Given the description of an element on the screen output the (x, y) to click on. 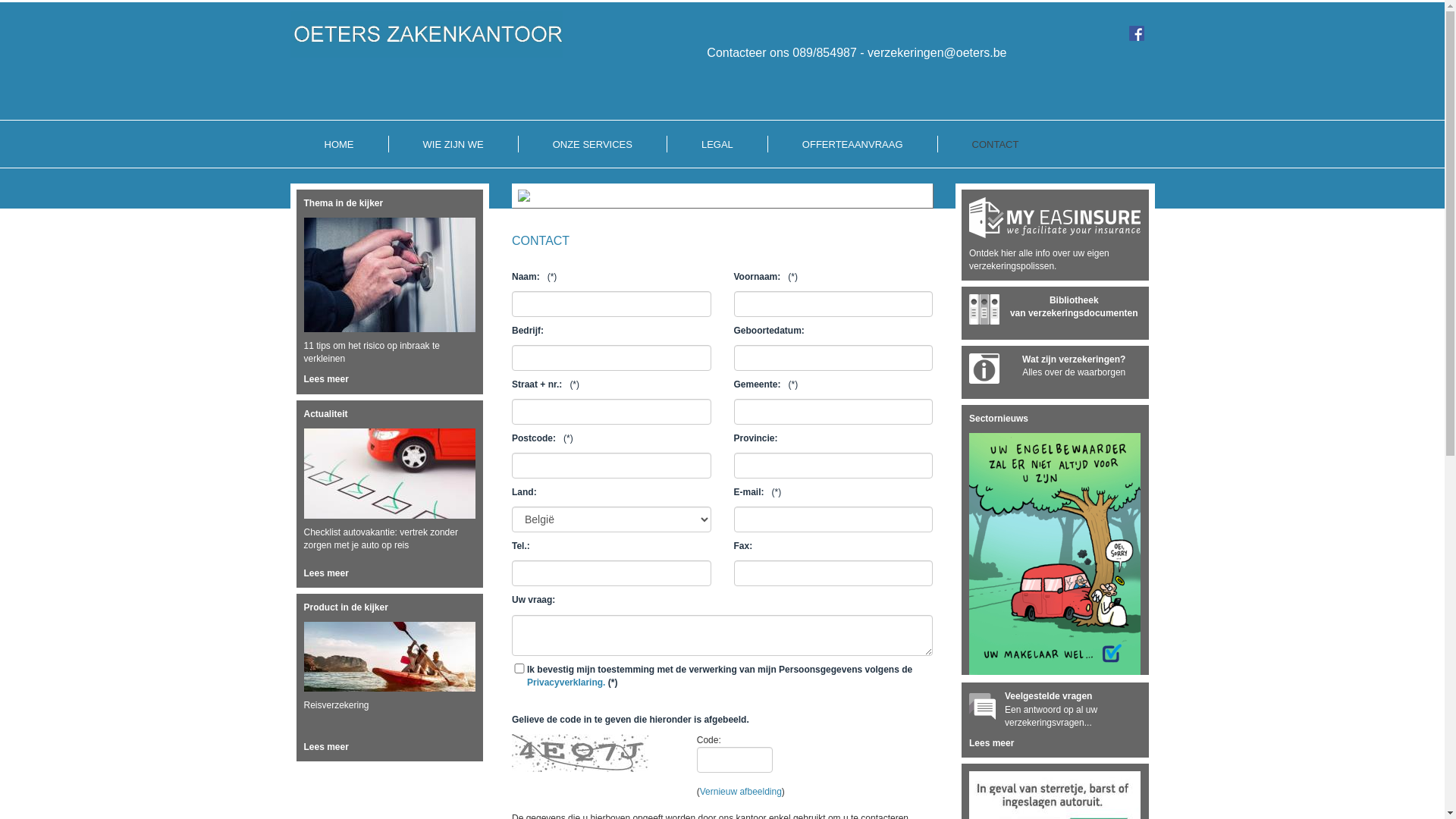
Ontdek hier alle info over uw eigen verzekeringspolissen. Element type: text (1055, 238)
verzekeringen@oeters.be Element type: text (936, 52)
LEGAL Element type: text (717, 144)
Wat zijn verzekeringen?
Alles over de waarborgen Element type: text (1055, 375)
Vernieuw afbeelding Element type: text (740, 791)
WIE ZIJN WE Element type: text (452, 144)
CONTACT Element type: text (995, 144)
Lees meer Element type: text (389, 750)
Product in de kijker
Reisverzekering Element type: text (389, 670)
HOME Element type: text (338, 144)
Lees meer Element type: text (389, 577)
Lees meer Element type: text (389, 383)
Privacyverklaring. Element type: text (566, 682)
OFFERTEAANVRAAG Element type: text (852, 144)
ONZE SERVICES Element type: text (592, 144)
Lees meer Element type: text (1055, 747)
Sectornieuws Element type: text (1055, 543)
Bibliotheek
van verzekeringsdocumenten Element type: text (1055, 316)
